Given the description of an element on the screen output the (x, y) to click on. 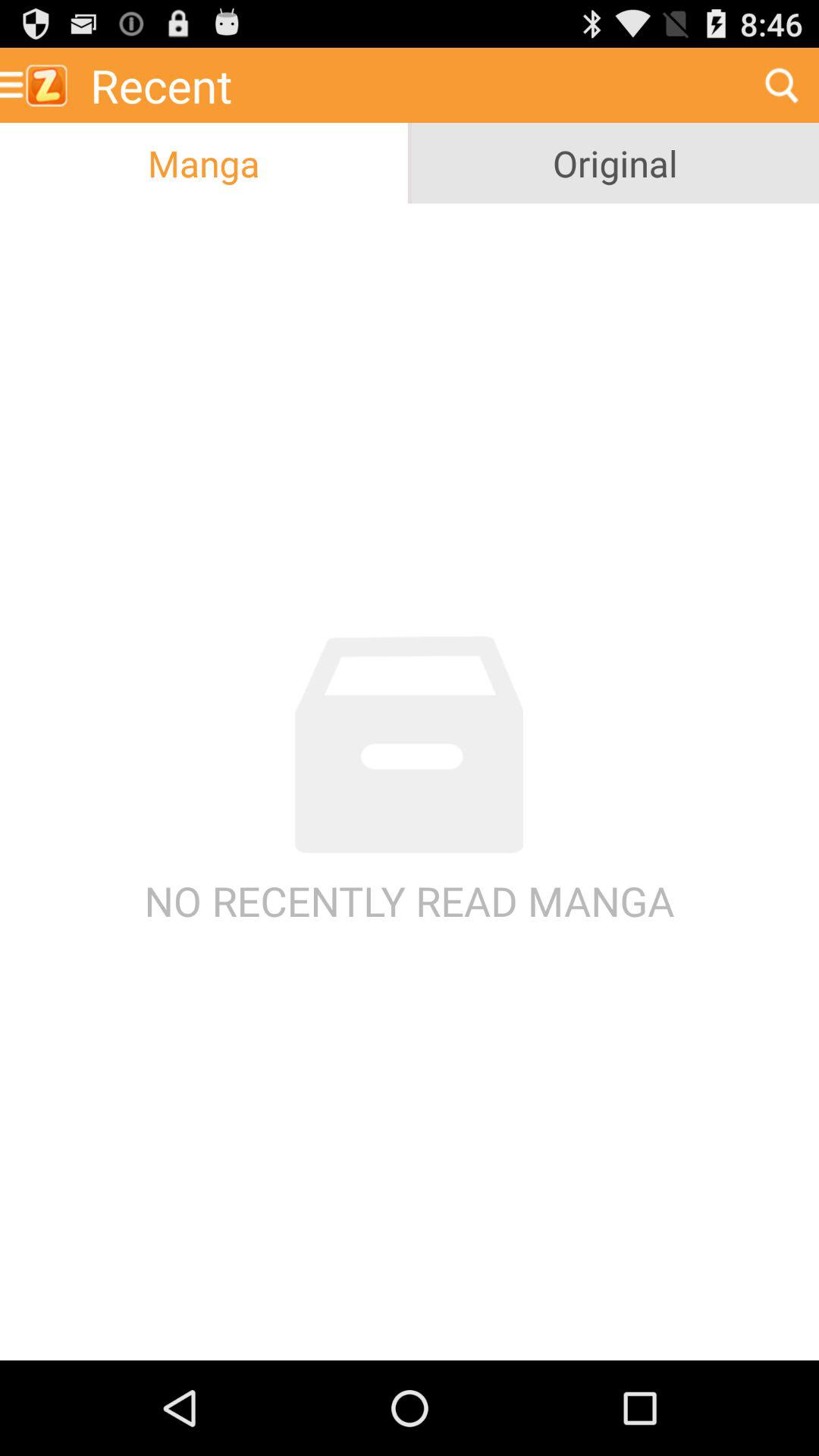
press the app next to recent item (40, 84)
